Given the description of an element on the screen output the (x, y) to click on. 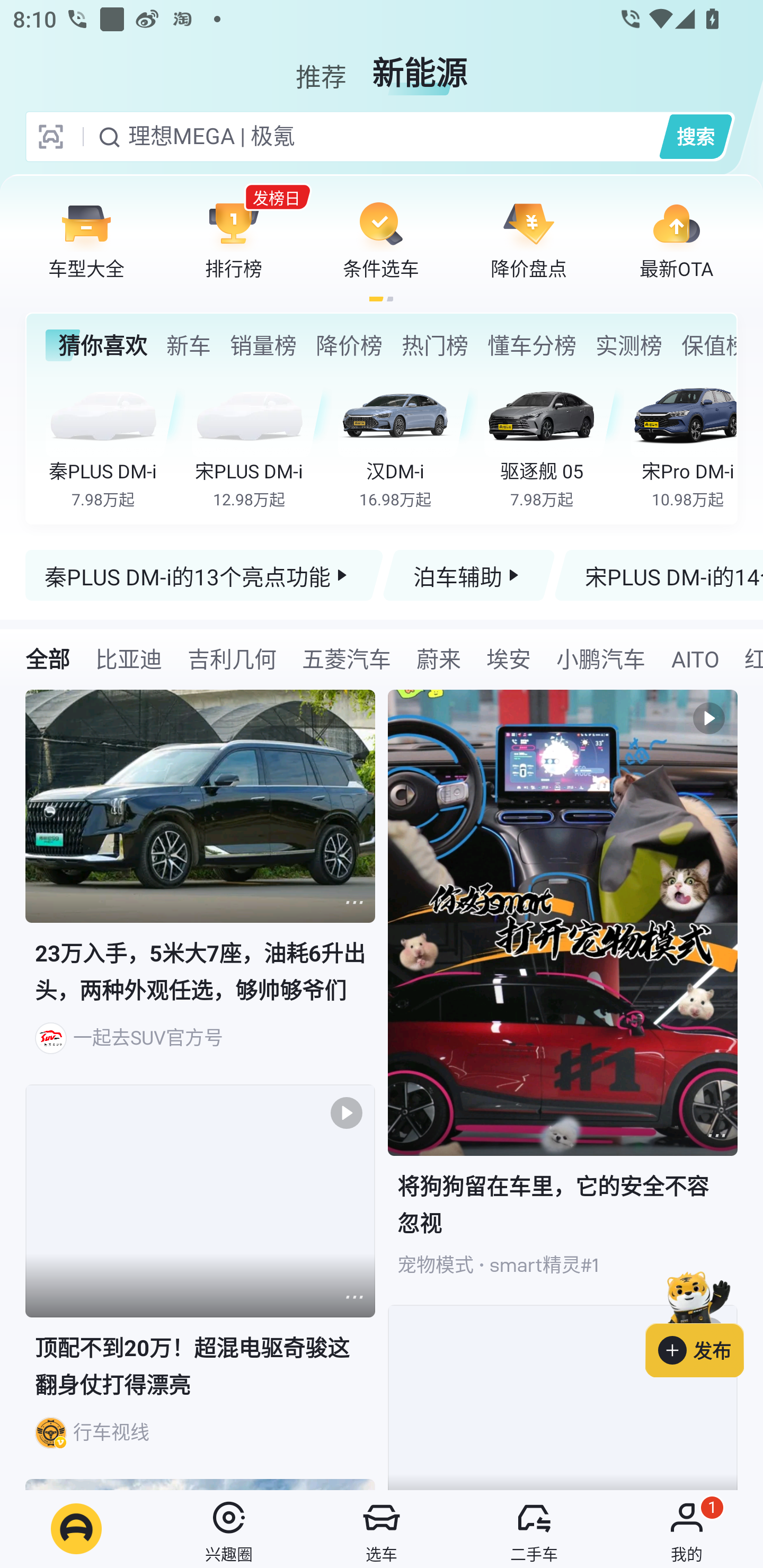
推荐 (321, 65)
新能源 (419, 65)
搜索 (695, 136)
车型大全 (86, 238)
发榜日 排行榜 (233, 238)
条件选车 (380, 238)
降价盘点 (528, 238)
最新OTA (676, 238)
猜你喜欢 (96, 344)
新车 (188, 344)
销量榜 (262, 344)
降价榜 (348, 344)
热门榜 (434, 344)
懂车分榜 (531, 344)
实测榜 (628, 344)
保值榜 (708, 344)
秦PLUS DM-i 7.98万起 (115, 442)
宋PLUS DM-i 12.98万起 (261, 442)
汉DM-i 16.98万起 (407, 442)
驱逐舰 05 7.98万起 (554, 442)
宋Pro DM-i 10.98万起 (683, 442)
秦PLUS DM-i的13个亮点功能 (204, 575)
泊车辅助 (468, 575)
宋PLUS DM-i的14个亮点功能 (658, 575)
全部 (47, 658)
比亚迪 (128, 658)
吉利几何 (231, 658)
五菱汽车 (346, 658)
蔚来 (438, 658)
埃安 (508, 658)
小鹏汽车 (600, 658)
AITO (694, 658)
 23万入手，5米大7座，油耗6升出头，两种外观任选，够帅够爷们 一起去SUV官方号 (200, 887)
  将狗狗留在车里，它的安全不容忽视 宠物模式 smart精灵#1 (562, 996)
 (354, 902)
  顶配不到20万！超混电驱奇骏这翻身仗打得漂亮 行车视线 (200, 1281)
 (716, 1135)
smart精灵#1 (543, 1265)
发布 (704, 1320)
 (354, 1296)
 兴趣圈 (228, 1528)
 选车 (381, 1528)
 二手车 (533, 1528)
 我的 (686, 1528)
